Given the description of an element on the screen output the (x, y) to click on. 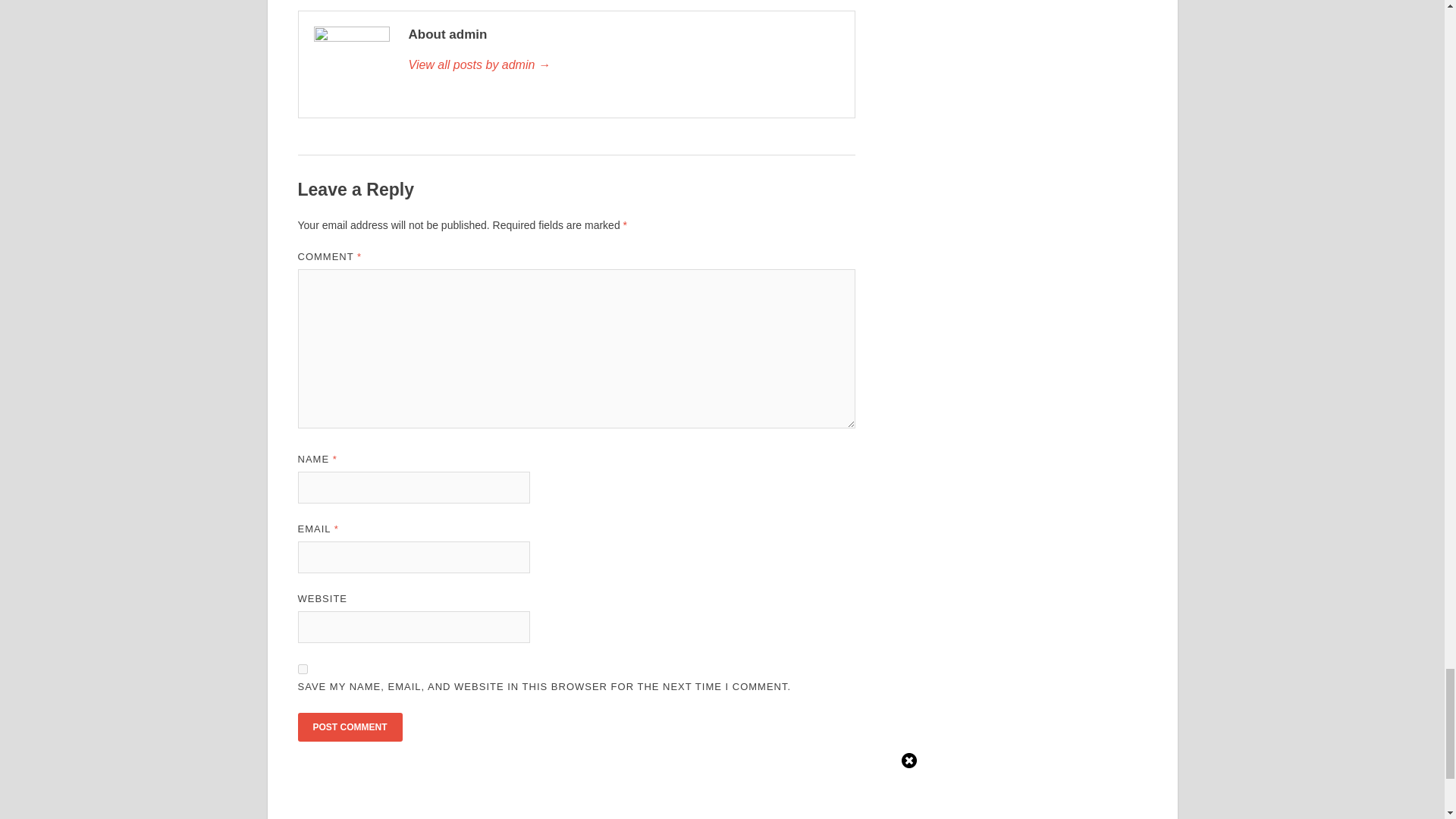
Post Comment (349, 727)
yes (302, 669)
admin (622, 65)
Post Comment (349, 727)
